Given the description of an element on the screen output the (x, y) to click on. 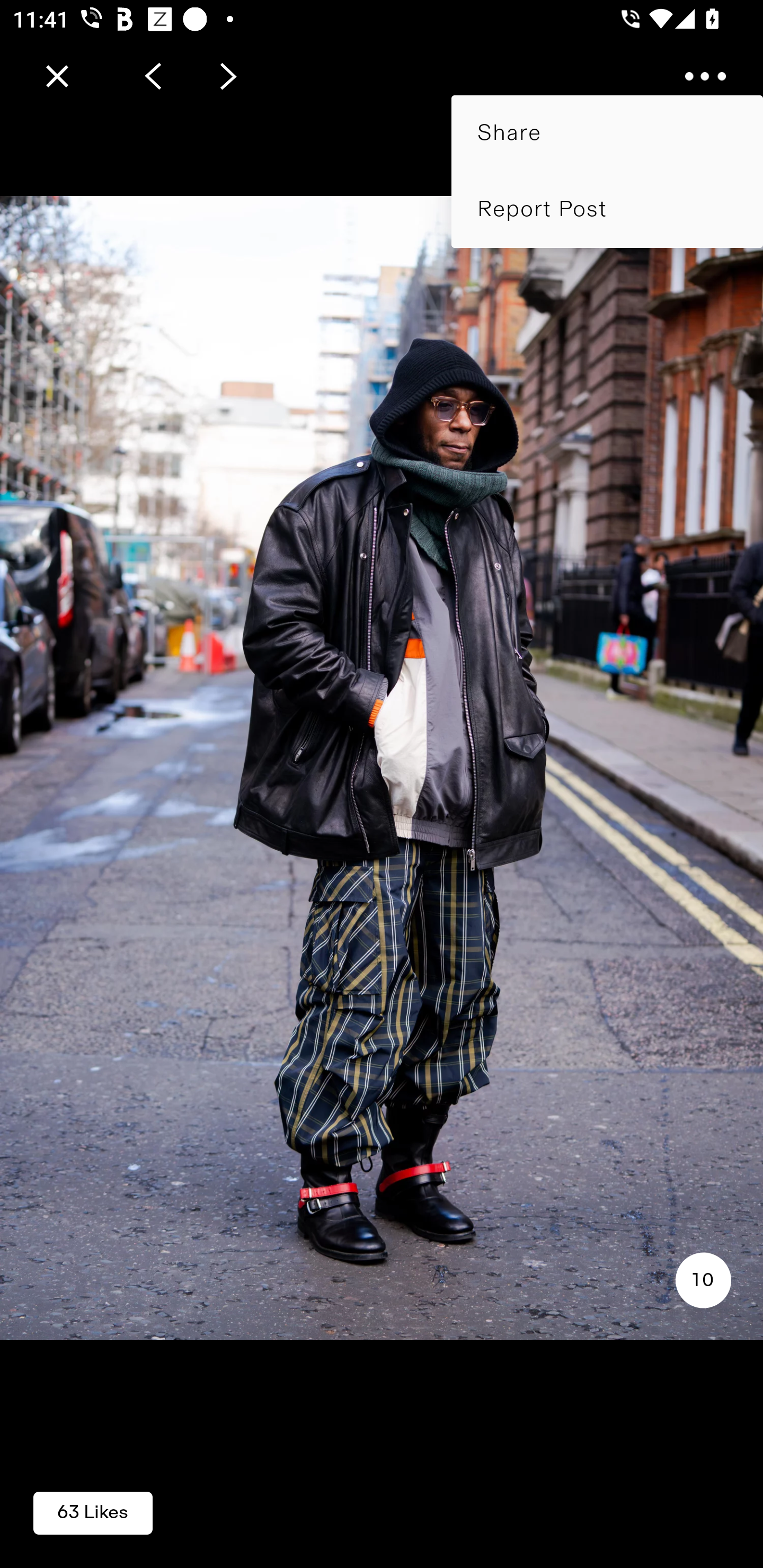
Share (607, 132)
Report Post (607, 208)
